Given the description of an element on the screen output the (x, y) to click on. 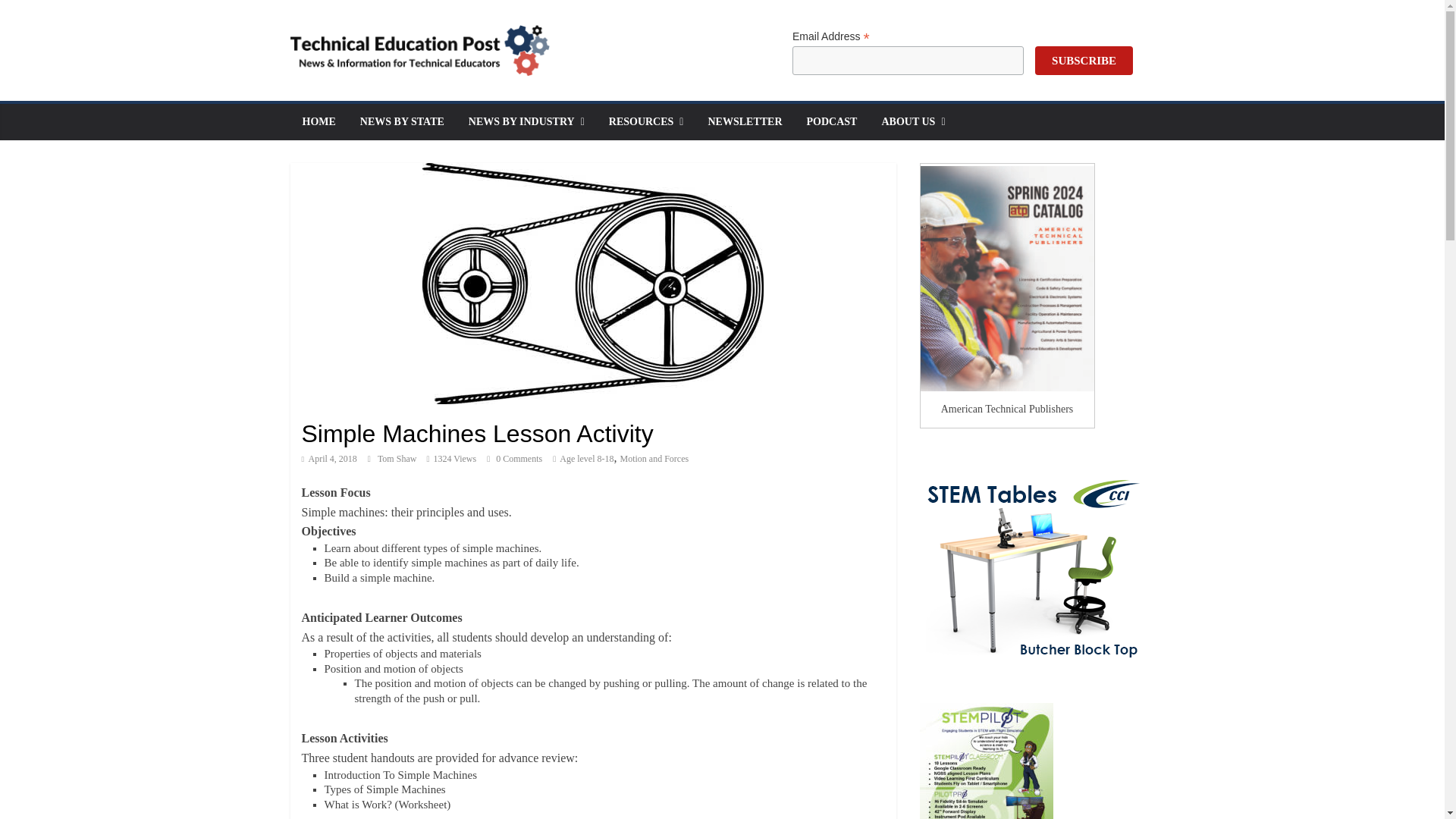
NEWS BY INDUSTRY (526, 122)
NEWS BY STATE (402, 122)
0 Comments (513, 458)
Tom Shaw (398, 458)
4:03 pm (328, 458)
RESOURCES (645, 122)
HOME (318, 122)
April 4, 2018 (328, 458)
Age level 8-18 (585, 458)
Tom Shaw (398, 458)
PODCAST (831, 122)
NEWSLETTER (744, 122)
ABOUT US (912, 122)
Subscribe (1083, 60)
Motion and Forces (654, 458)
